Given the description of an element on the screen output the (x, y) to click on. 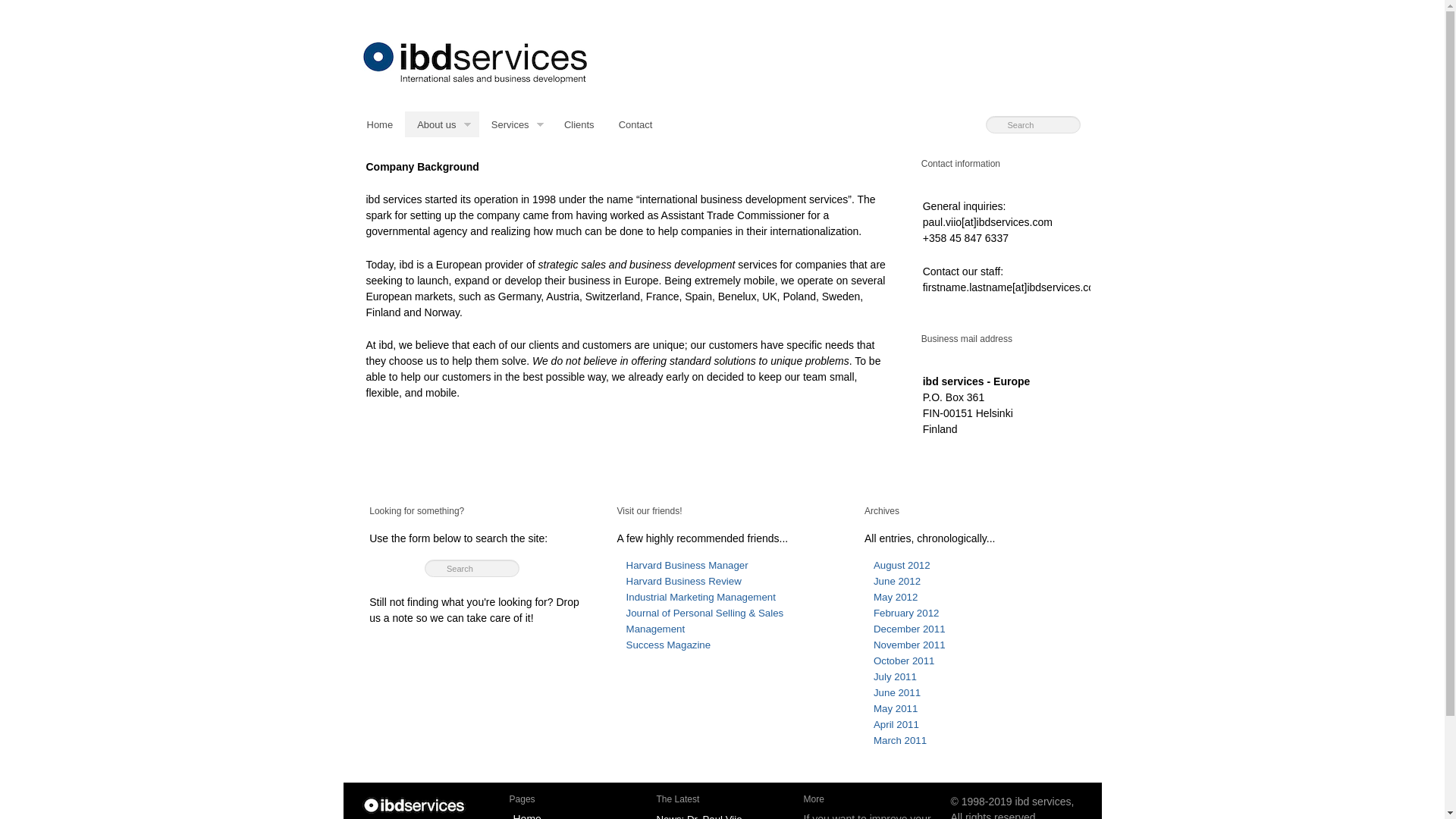
Home (380, 124)
Harvard Business Review (683, 581)
Clients (579, 124)
Contact (636, 124)
Home (415, 804)
Industrial Marketing Management (701, 596)
Success Magazine (668, 644)
August 2012 (901, 564)
February 2012 (906, 613)
Harvard Business Review (683, 581)
December 2011 (908, 628)
About us (441, 124)
June 2012 (896, 581)
Services (515, 124)
May 2012 (895, 596)
